Given the description of an element on the screen output the (x, y) to click on. 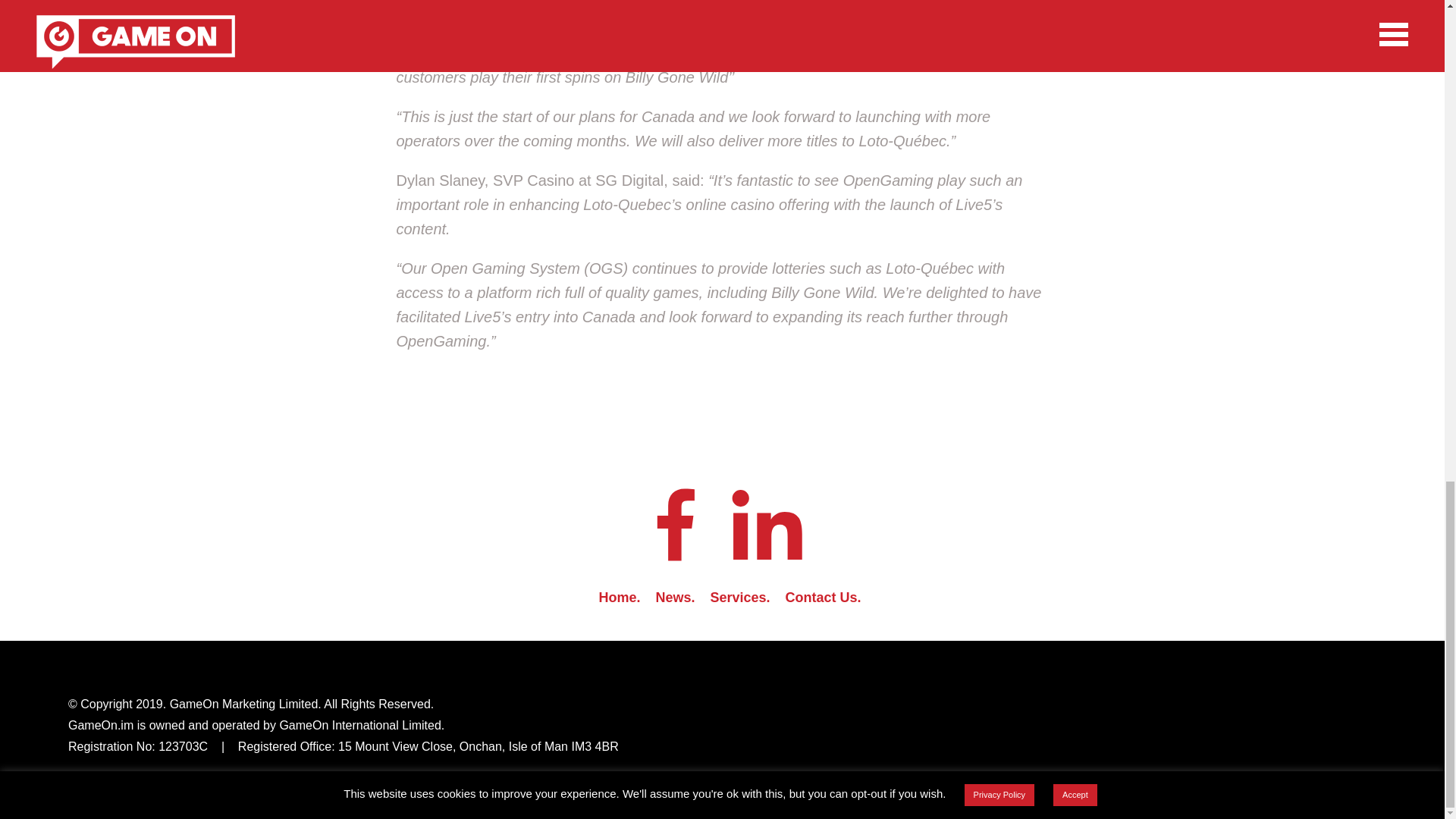
News. (674, 597)
Services. (740, 597)
Home. (619, 597)
Contact Us. (823, 597)
